Given the description of an element on the screen output the (x, y) to click on. 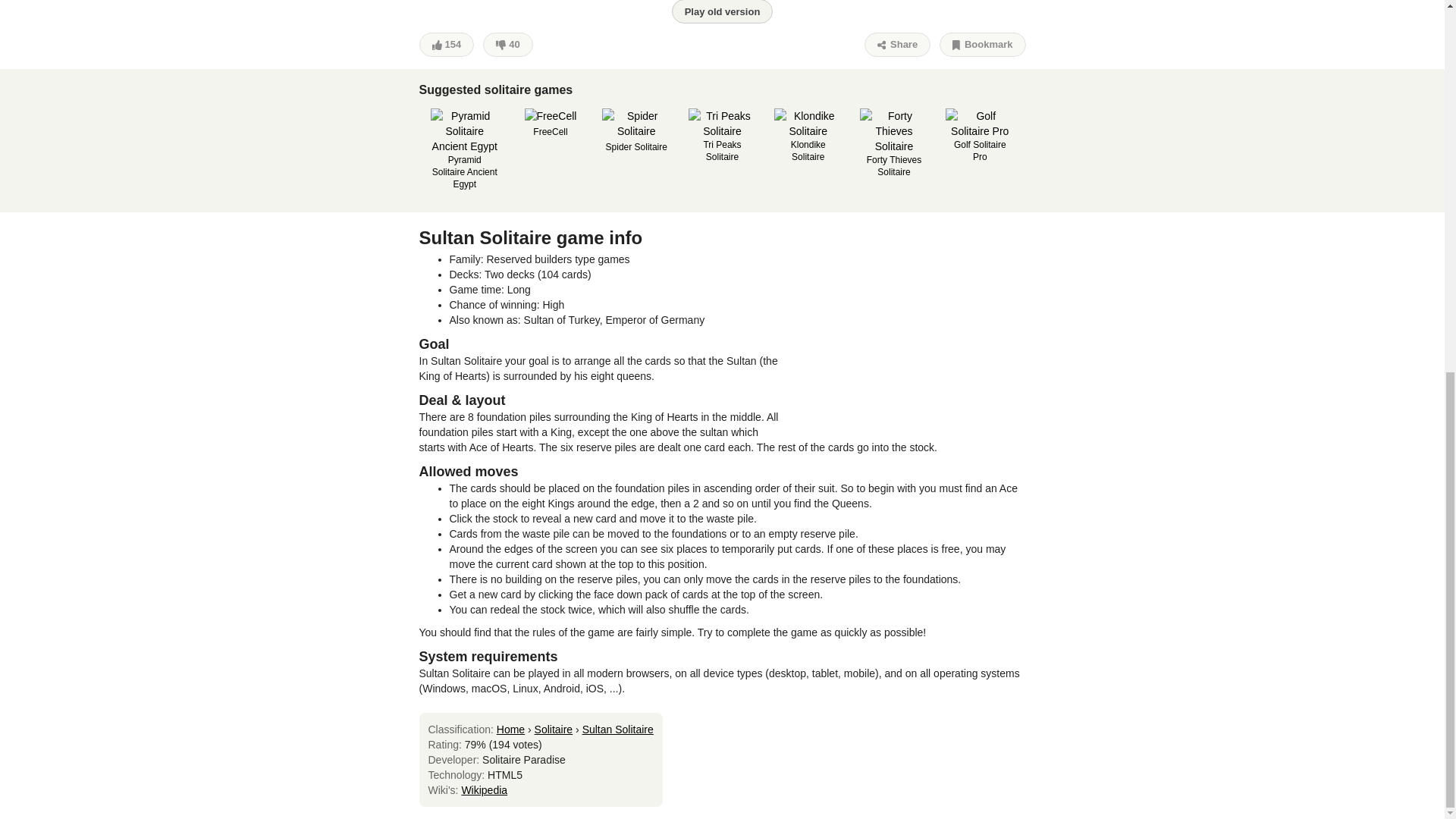
FreeCell (550, 123)
Pyramid Solitaire Ancient Egypt (464, 149)
154 (446, 44)
Tri Peaks Solitaire (722, 135)
Spider Solitaire (635, 130)
Forty Thieves Solitaire (894, 143)
Golf Solitaire Pro (978, 135)
Klondike Solitaire (808, 135)
Play old version (722, 11)
